Given the description of an element on the screen output the (x, y) to click on. 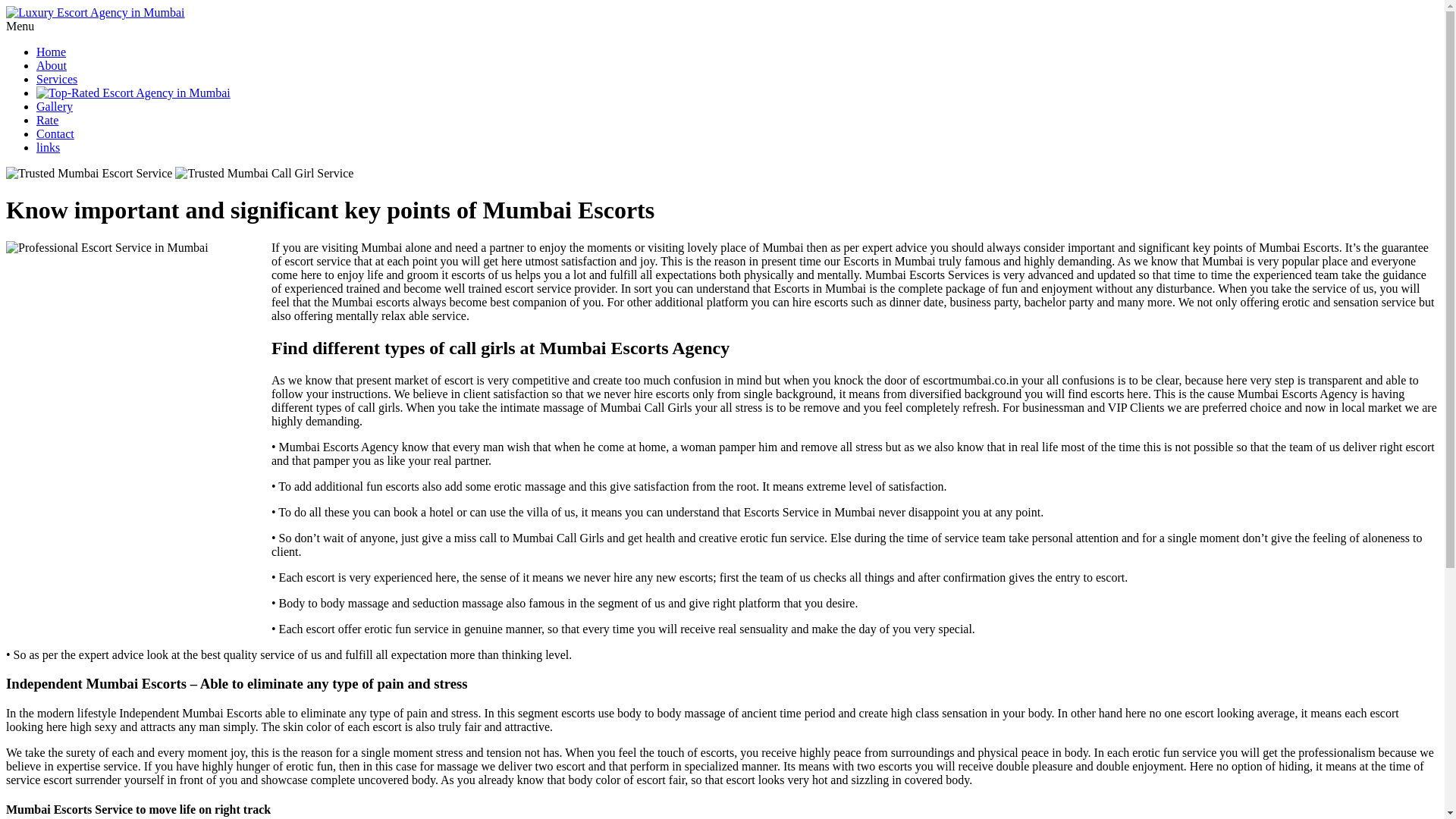
Rate (47, 119)
Home (50, 51)
Services (56, 78)
links (47, 146)
Gallery (54, 106)
Contact (55, 133)
About (51, 65)
